Given the description of an element on the screen output the (x, y) to click on. 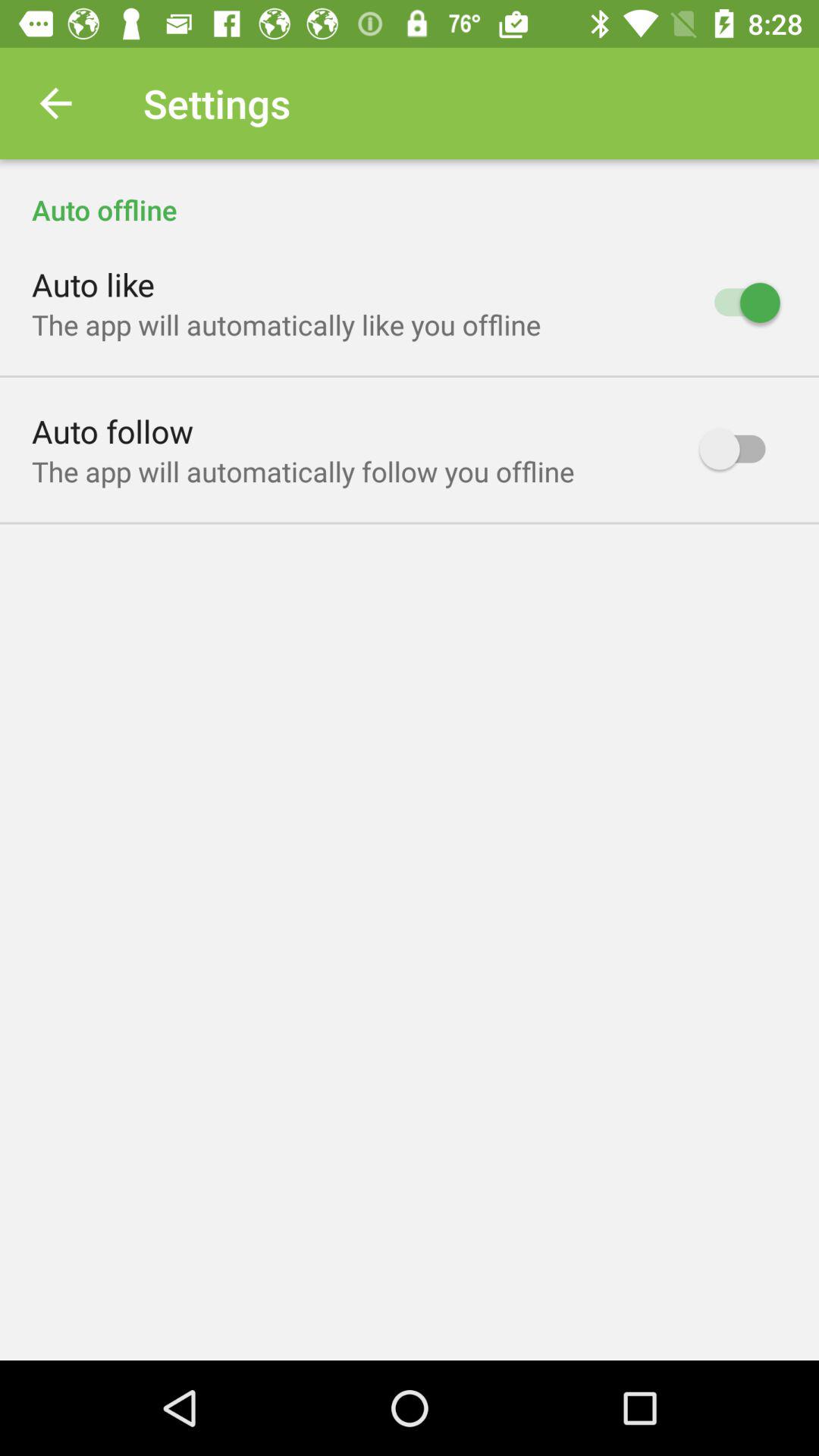
open item next to the settings (55, 103)
